Given the description of an element on the screen output the (x, y) to click on. 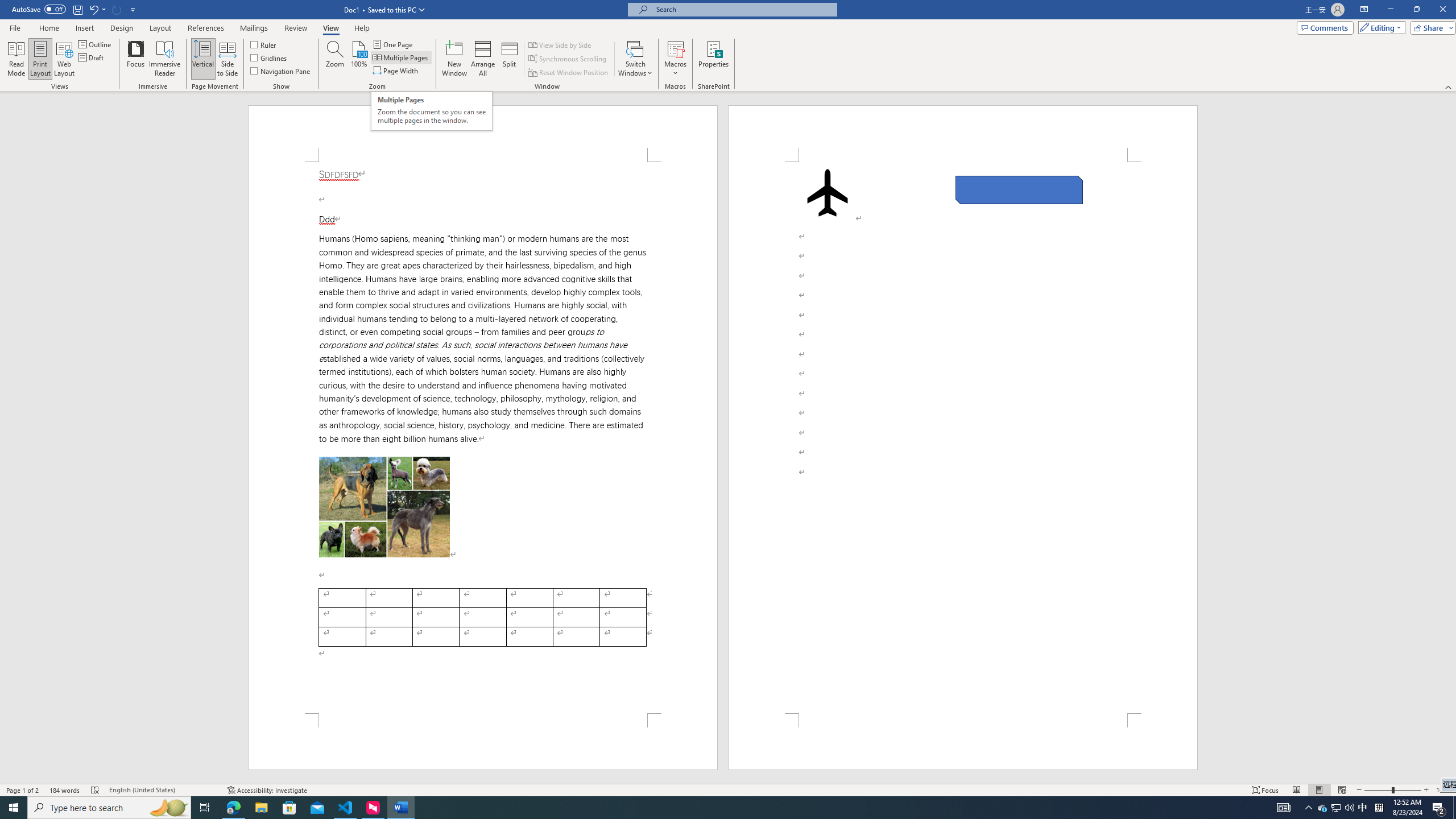
Undo Apply Quick Style Set (96, 9)
Arrange All (483, 58)
Page 1 content (482, 437)
Immersive Reader (165, 58)
Draft (91, 56)
Word Count 184 words (64, 790)
Properties (713, 58)
